Given the description of an element on the screen output the (x, y) to click on. 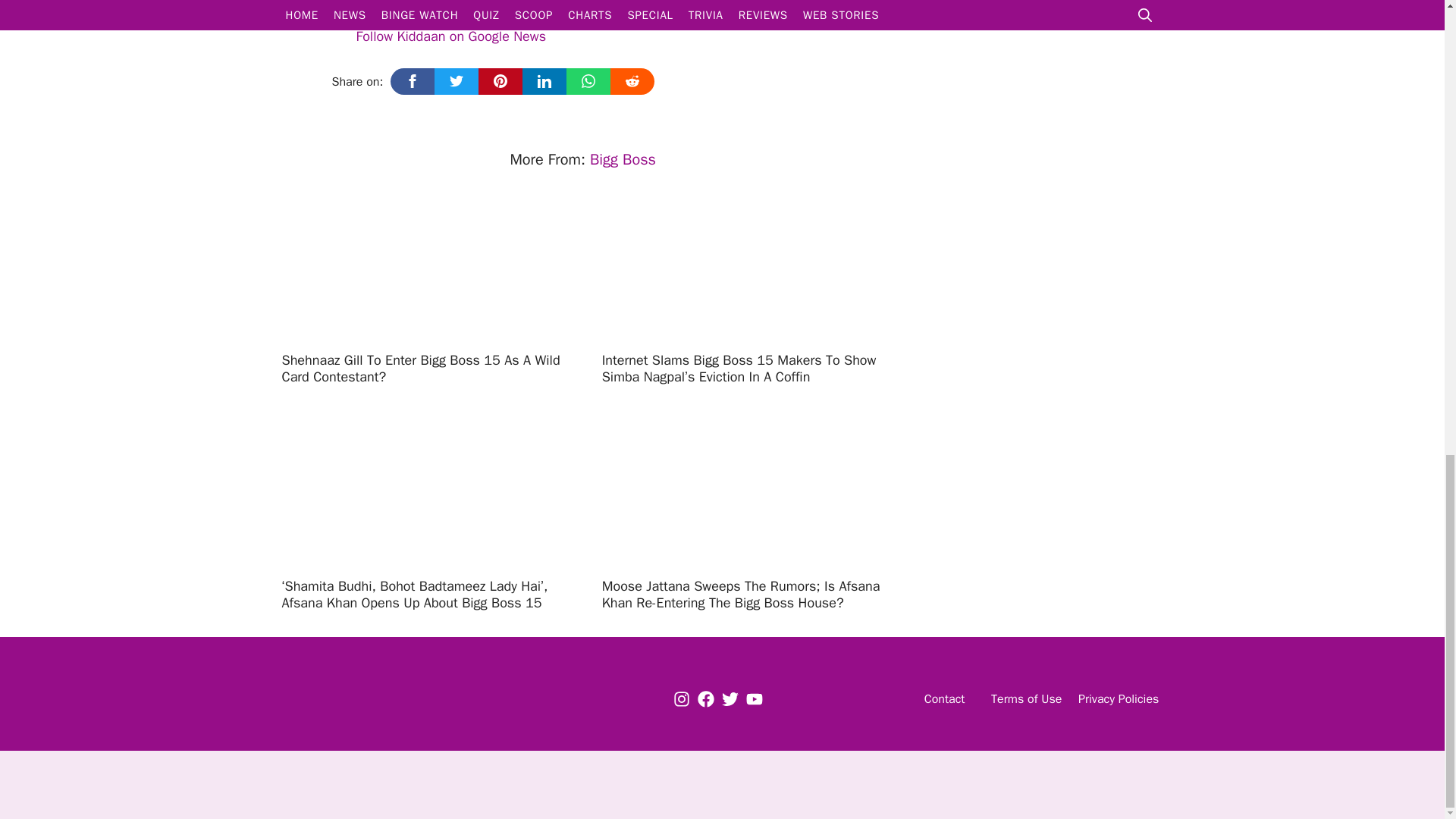
Follow Kiddaan on Google News (439, 36)
Logo x1 (372, 699)
